Given the description of an element on the screen output the (x, y) to click on. 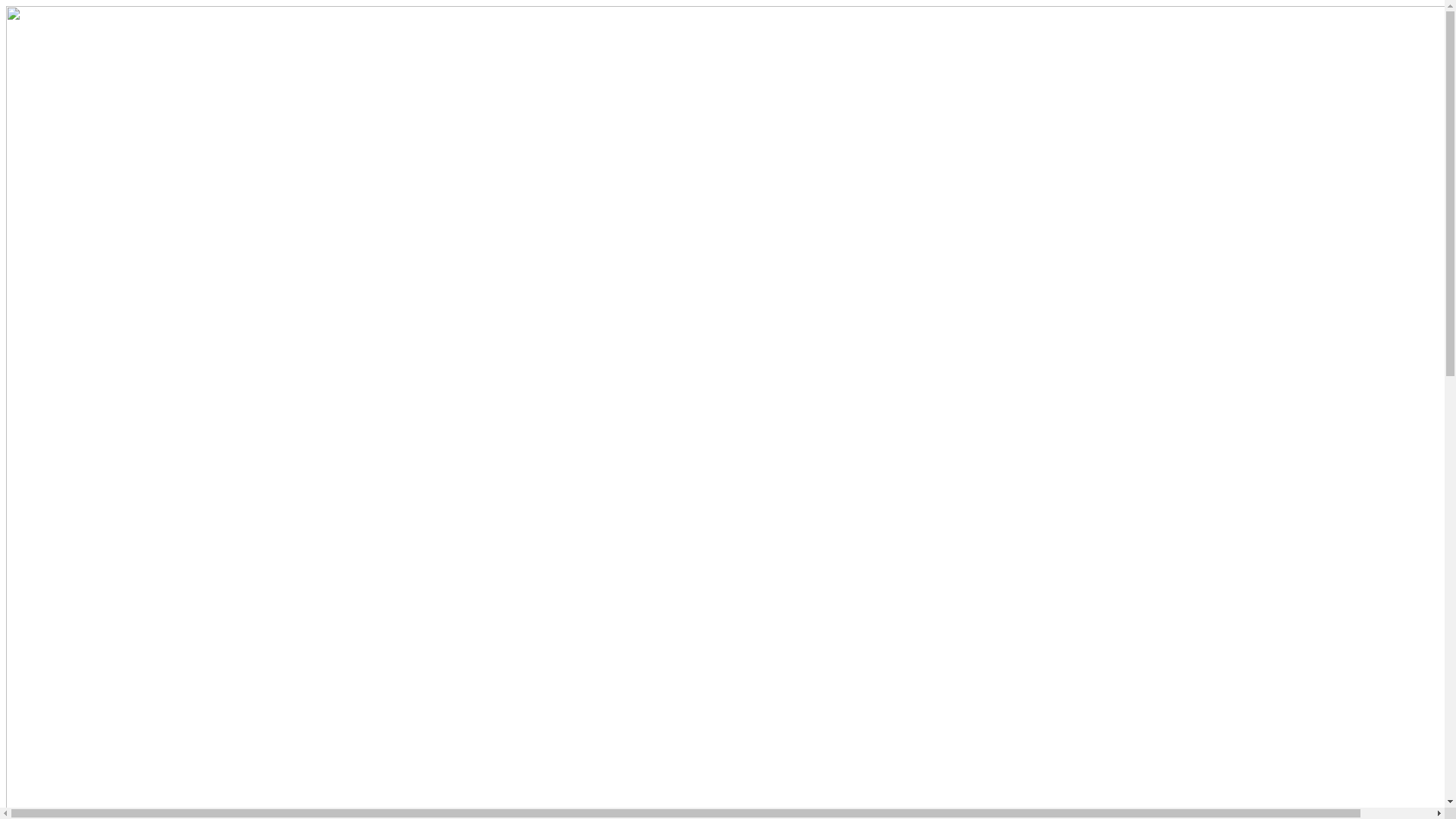
Zum Inhalt springen Element type: text (5, 5)
